Given the description of an element on the screen output the (x, y) to click on. 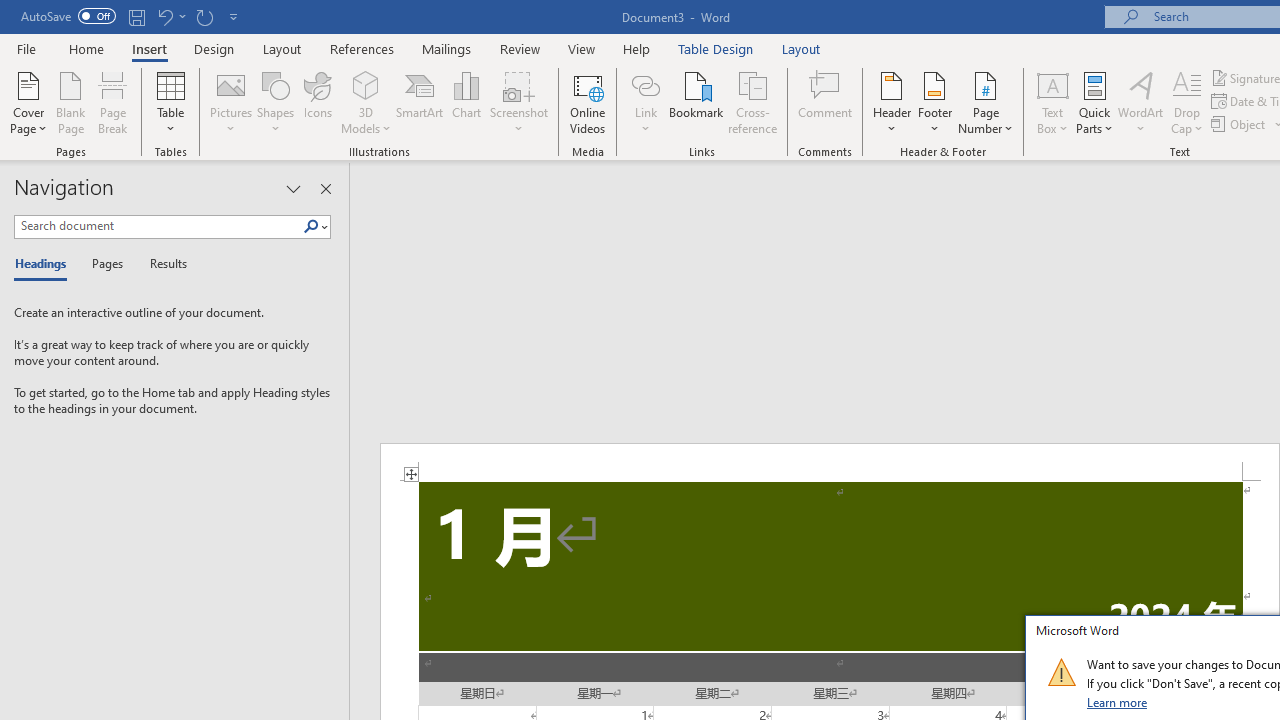
Quick Parts (1094, 102)
Help (637, 48)
Shapes (275, 102)
Page Break (113, 102)
Results (161, 264)
More Options (645, 121)
SmartArt... (419, 102)
Chart... (466, 102)
Icons (317, 102)
Review (520, 48)
Cover Page (28, 102)
Design (214, 48)
Layout (801, 48)
Undo Increase Indent (170, 15)
Customize Quick Access Toolbar (234, 15)
